Given the description of an element on the screen output the (x, y) to click on. 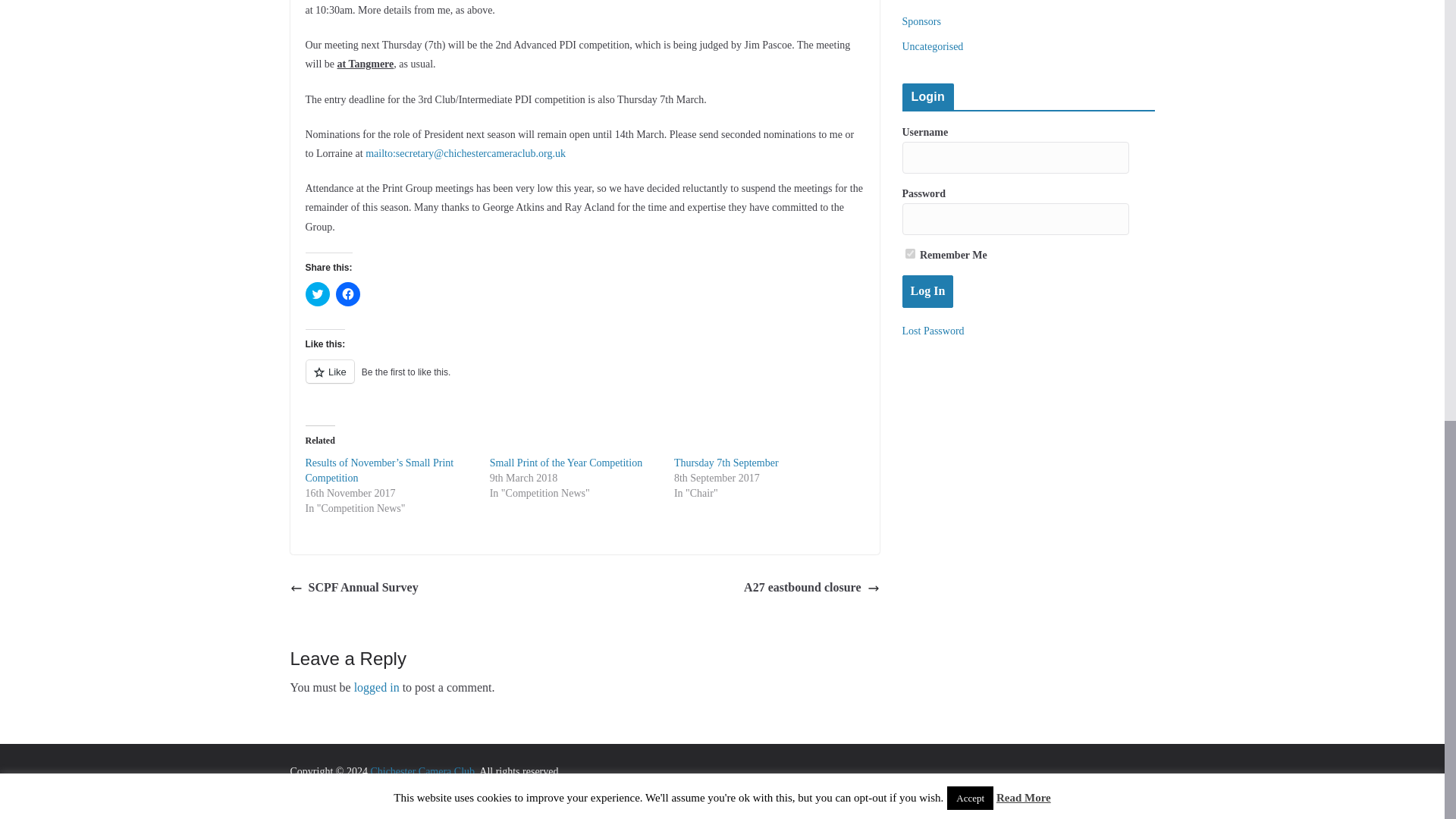
WordPress (514, 790)
forever (910, 253)
Log In (927, 291)
ColorMag (346, 790)
Click to share on Facebook (346, 293)
Chichester Camera Club (421, 771)
Thursday 7th September (726, 462)
Small Print of the Year Competition (565, 462)
Like or Reblog (583, 380)
Click to share on Twitter (316, 293)
